Given the description of an element on the screen output the (x, y) to click on. 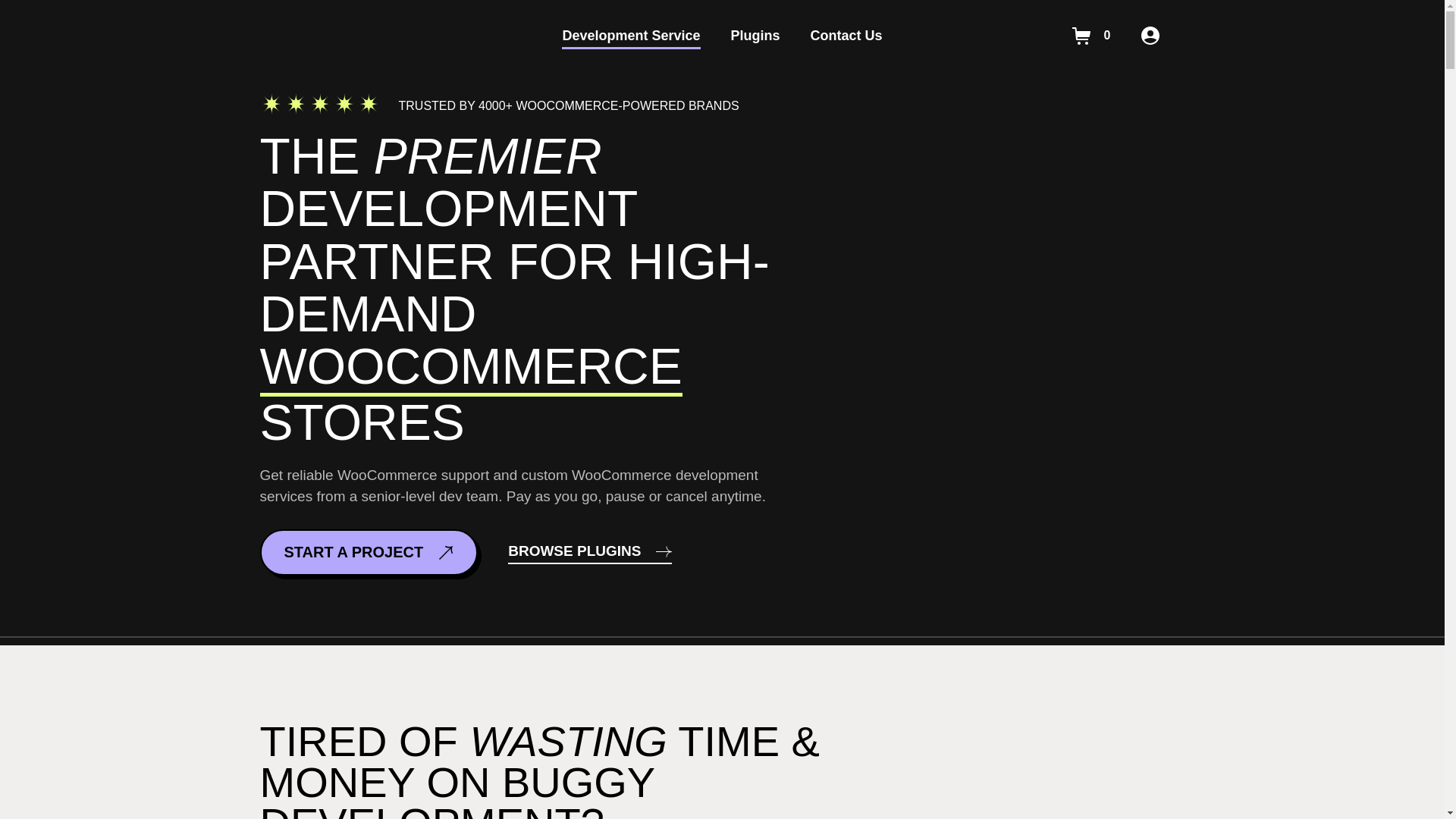
0 (1091, 35)
Plugins (755, 36)
BROWSE PLUGINS (589, 552)
Let's work together! (1008, 335)
Development Service (631, 36)
START A PROJECT (368, 552)
Contact Us (846, 36)
